Given the description of an element on the screen output the (x, y) to click on. 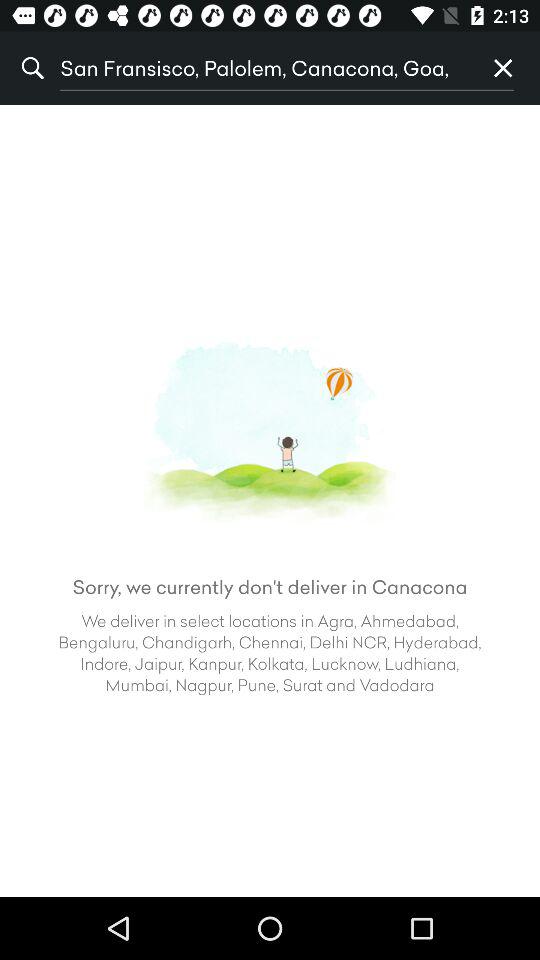
tap icon next to the p icon (263, 68)
